Given the description of an element on the screen output the (x, y) to click on. 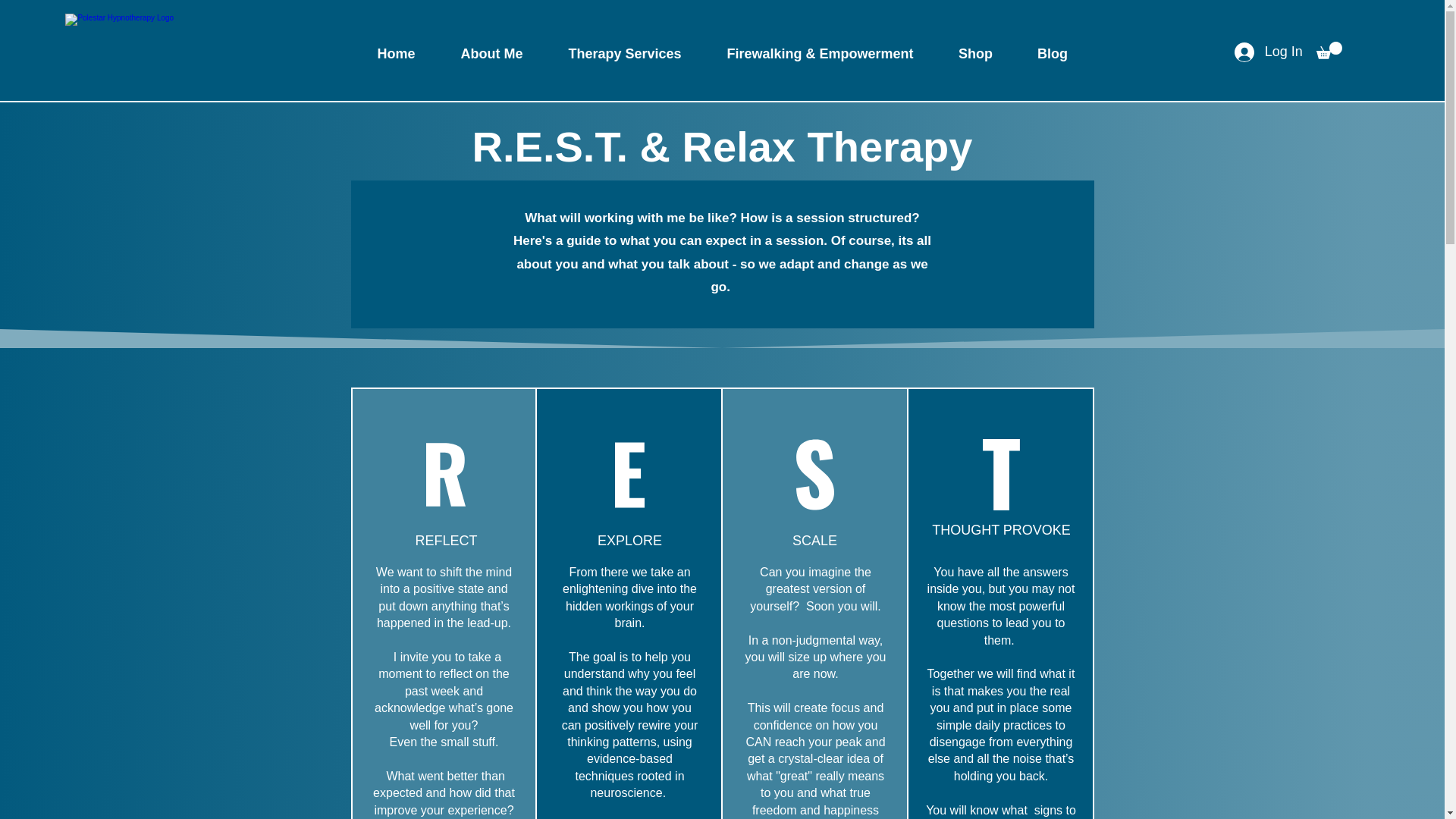
Home (396, 53)
Blog (1051, 53)
About Me (492, 53)
